Given the description of an element on the screen output the (x, y) to click on. 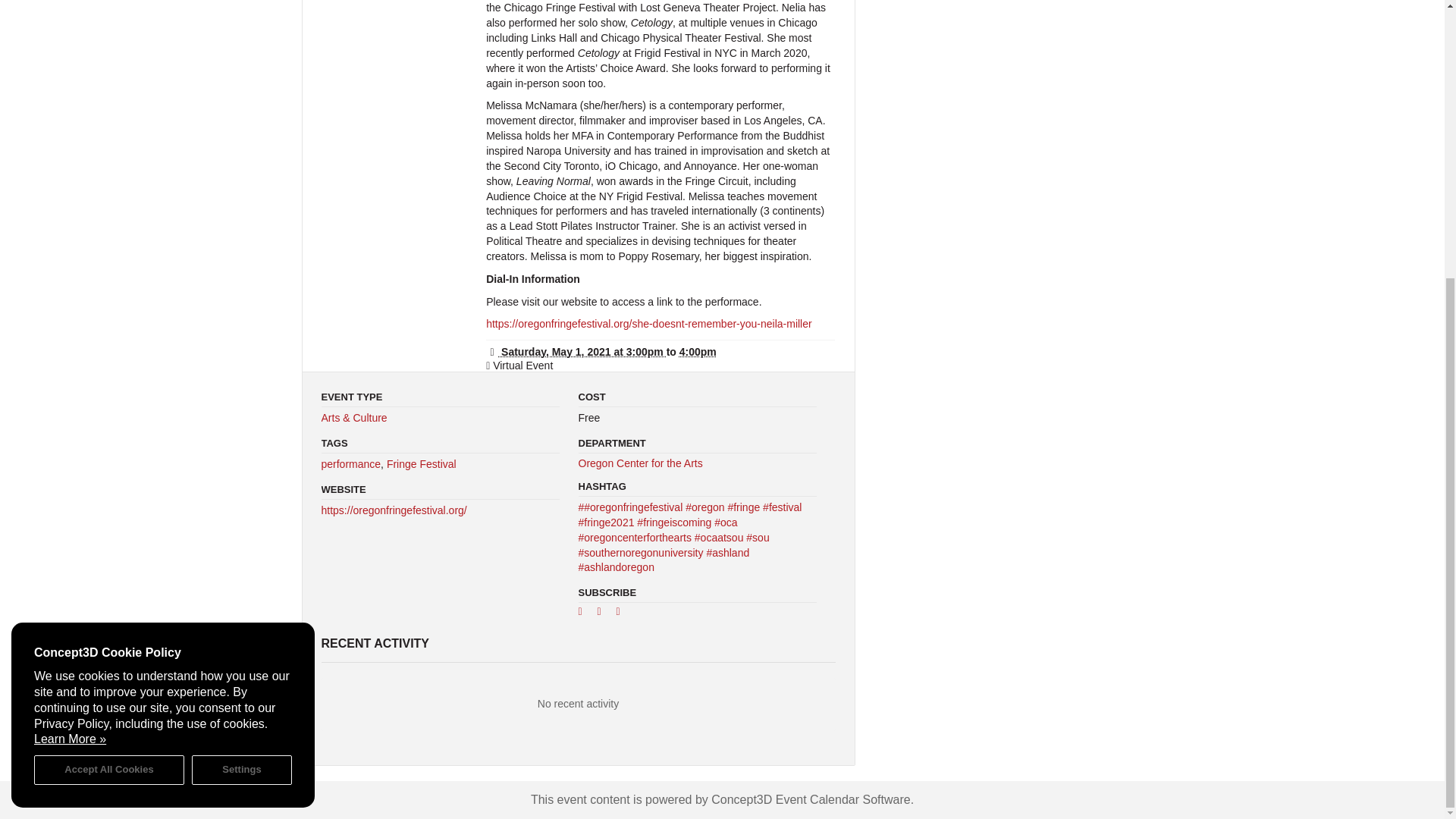
Save to Google Calendar (585, 613)
Oregon Center for the Arts (639, 463)
performance (351, 463)
Save to iCal (604, 613)
Settings (242, 356)
2021-05-01T15:00:00-07:00 (576, 351)
Accept All Cookies (108, 356)
Outlook (622, 613)
2021-05-01T16:00:00-07:00 (697, 351)
Google Calendar (585, 613)
Save to Outlook (622, 613)
iCal (604, 613)
Fringe Festival (422, 463)
